Given the description of an element on the screen output the (x, y) to click on. 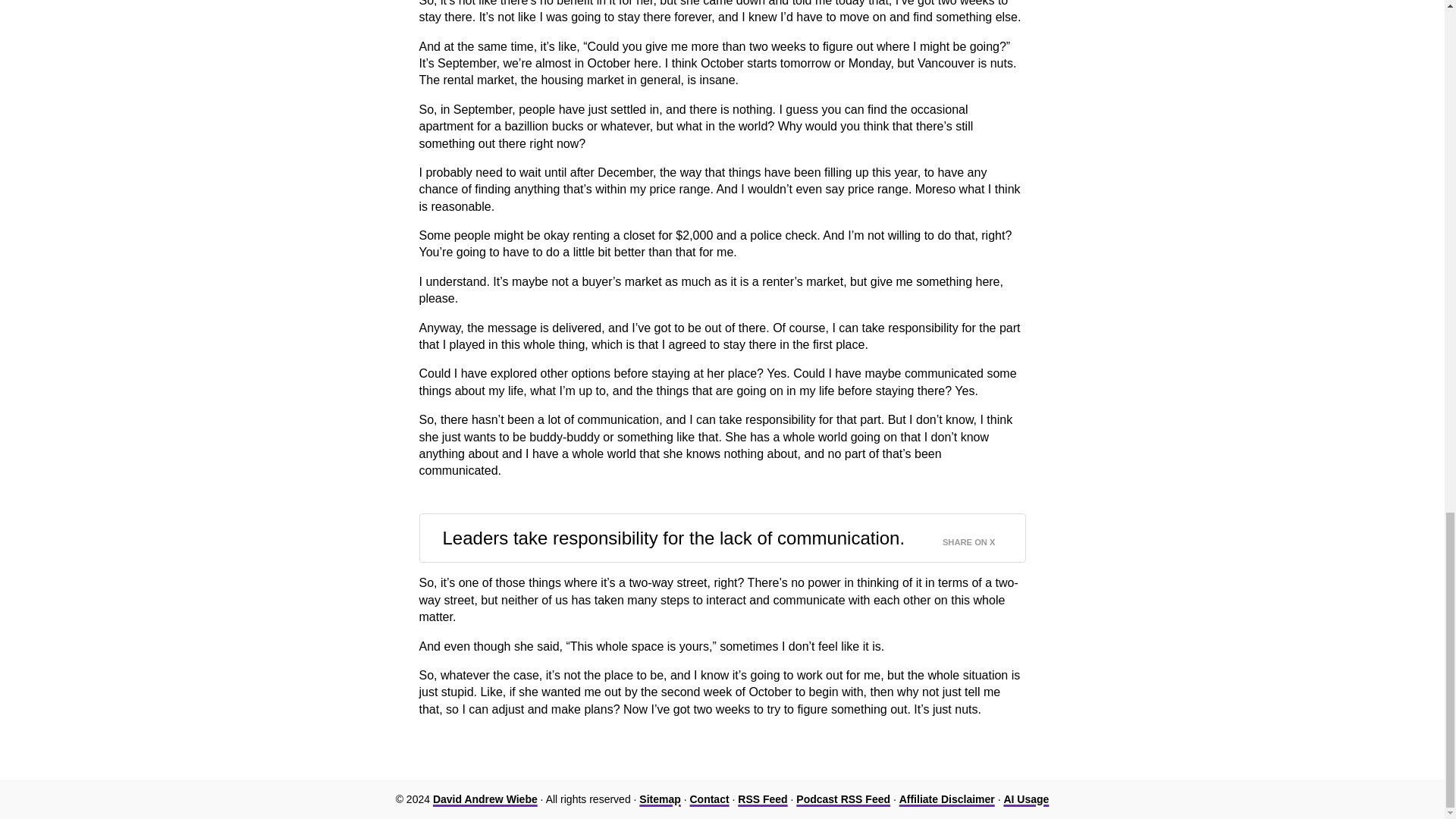
David Andrew Wiebe (484, 799)
Contact (708, 799)
Leaders take responsibility for the lack of communication. (673, 537)
RSS Feed (762, 799)
SHARE ON X (977, 537)
Sitemap (659, 799)
